Given the description of an element on the screen output the (x, y) to click on. 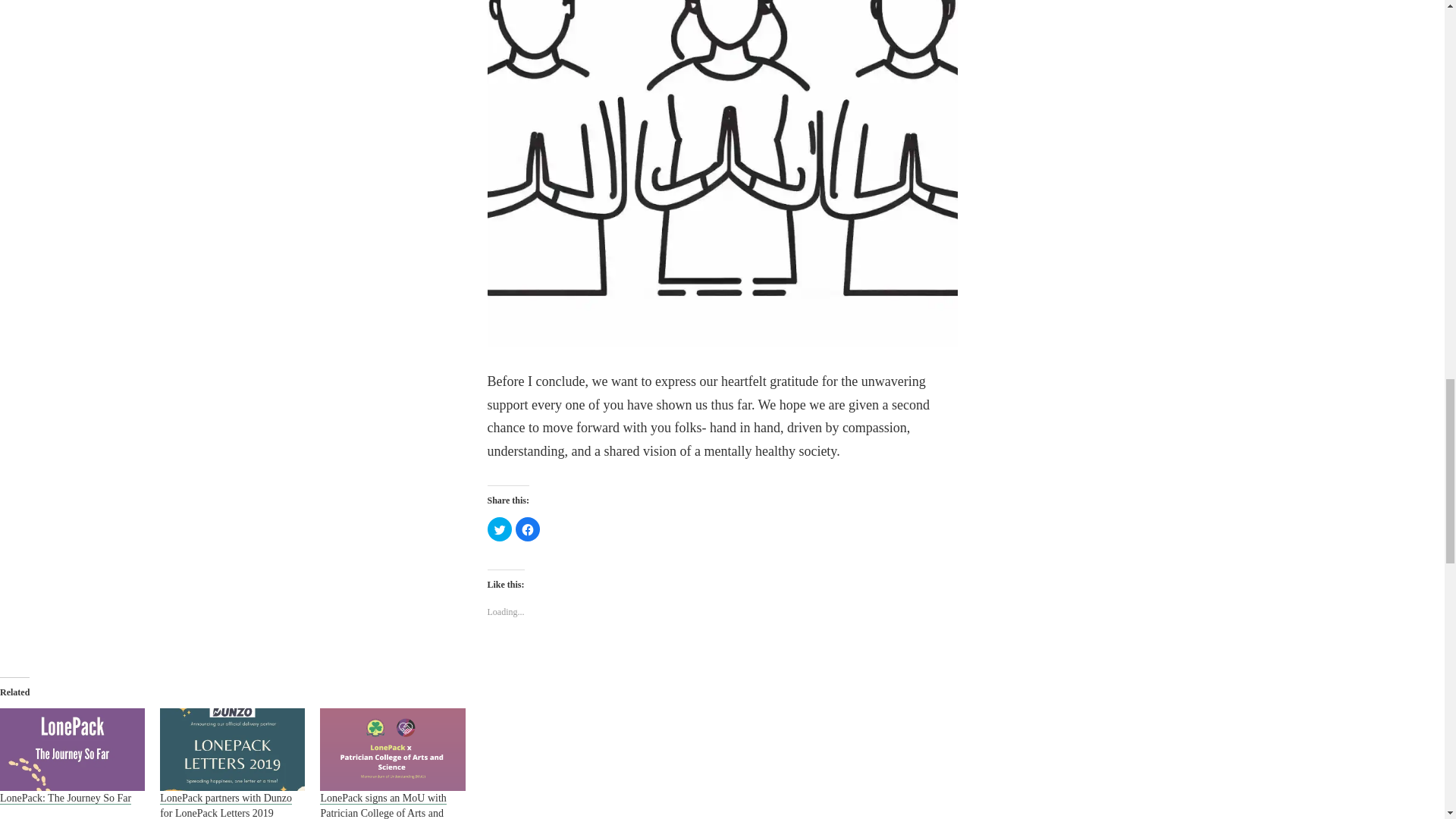
LonePack partners with Dunzo for LonePack Letters 2019 (232, 749)
Click to share on Twitter (498, 528)
LonePack partners with Dunzo for LonePack Letters 2019 (226, 805)
LonePack: The Journey So Far (65, 798)
LonePack partners with Dunzo for LonePack Letters 2019 (226, 805)
LonePack: The Journey So Far (72, 749)
Click to share on Facebook (527, 528)
LonePack: The Journey So Far (65, 798)
